Given the description of an element on the screen output the (x, y) to click on. 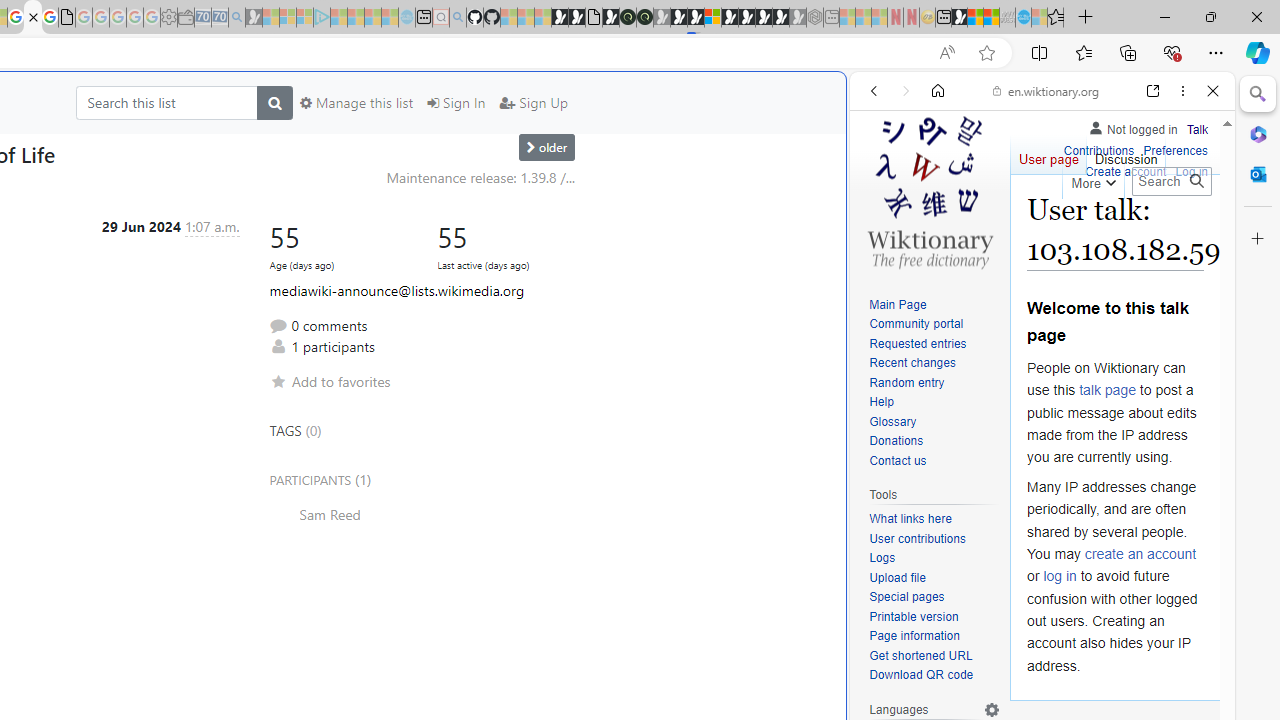
Contact us (934, 461)
User page (1048, 154)
Page information (934, 637)
en.wiktionary.org (1046, 90)
Language settings (992, 709)
Get shortened URL (920, 655)
Community portal (934, 324)
